Given the description of an element on the screen output the (x, y) to click on. 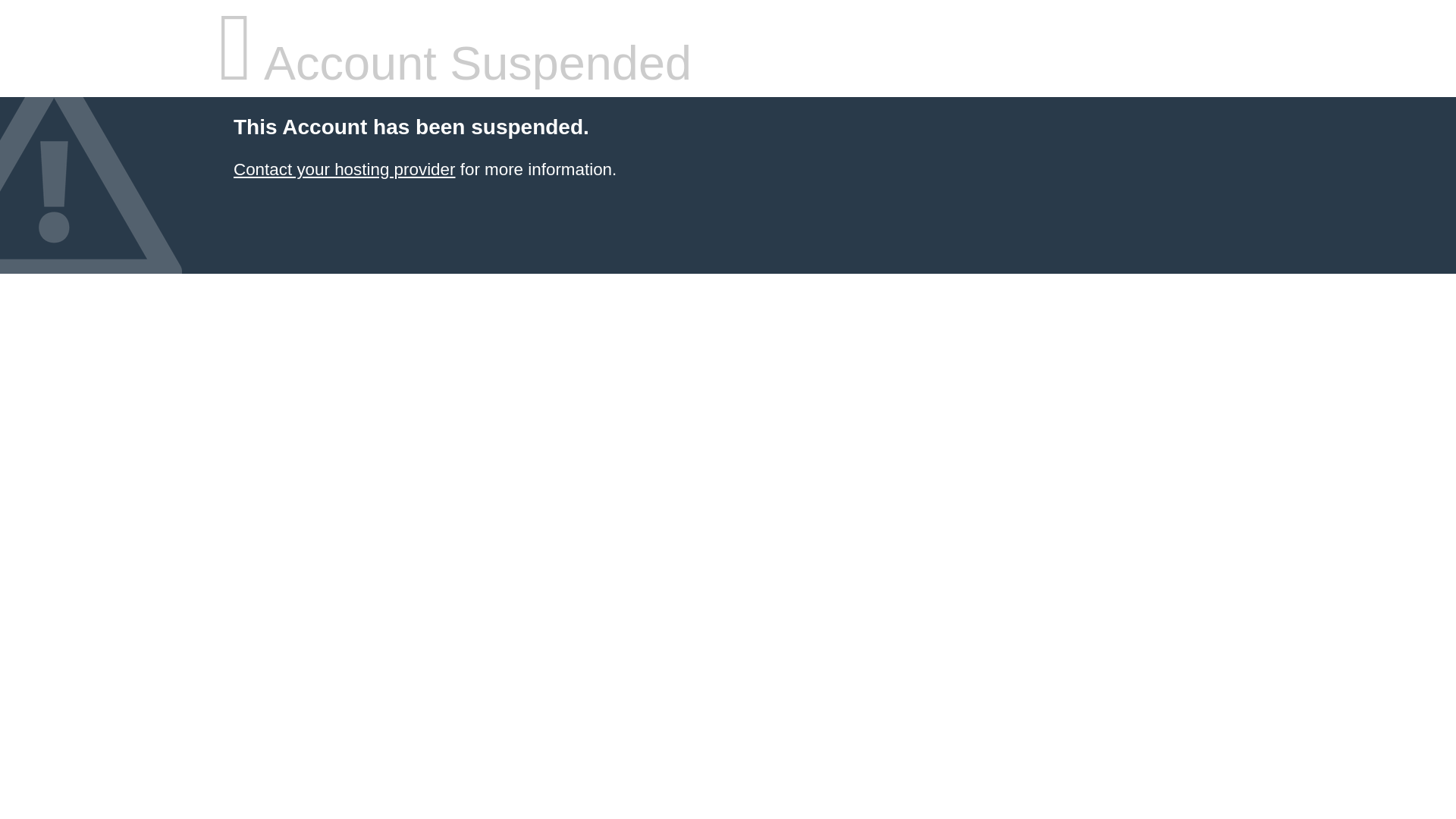
Contact your hosting provider Element type: text (344, 169)
